Given the description of an element on the screen output the (x, y) to click on. 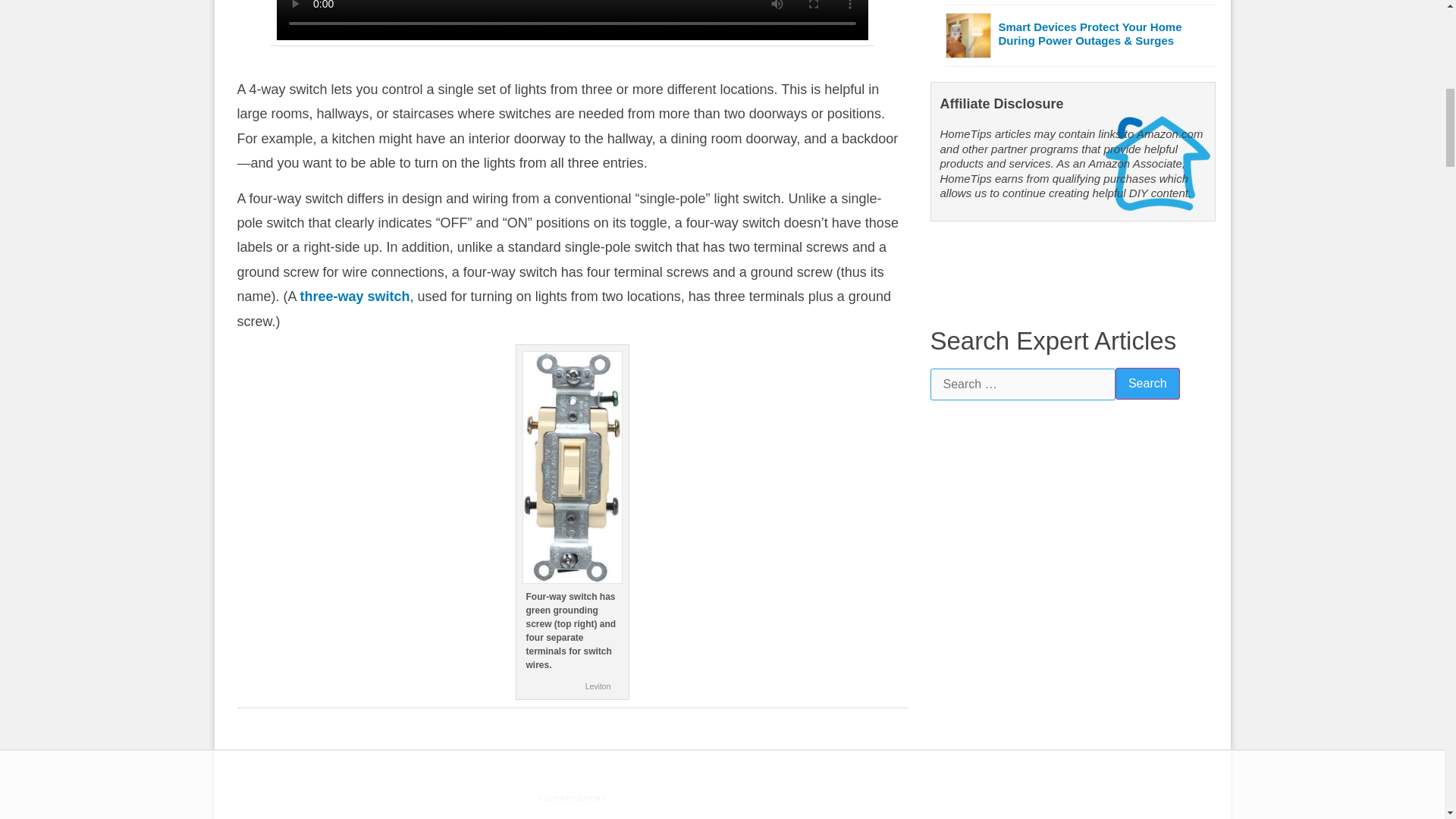
Search (1147, 383)
Search (1147, 383)
